Given the description of an element on the screen output the (x, y) to click on. 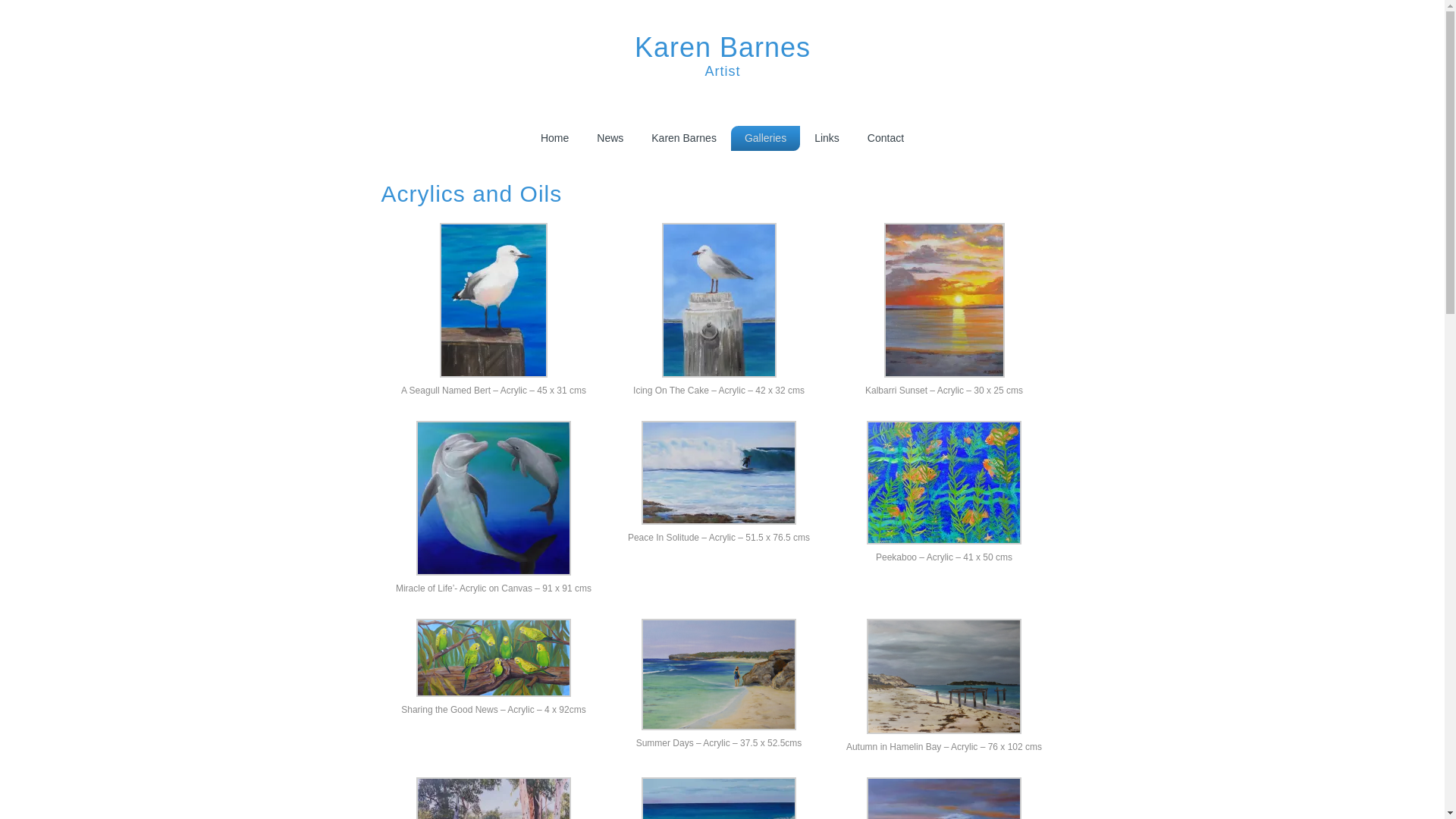
News Element type: text (610, 137)
Home Element type: text (554, 137)
Contact Element type: text (885, 137)
Karen Barnes Element type: text (722, 46)
Links Element type: text (826, 137)
Galleries Element type: text (765, 137)
Karen Barnes Element type: text (683, 137)
